Given the description of an element on the screen output the (x, y) to click on. 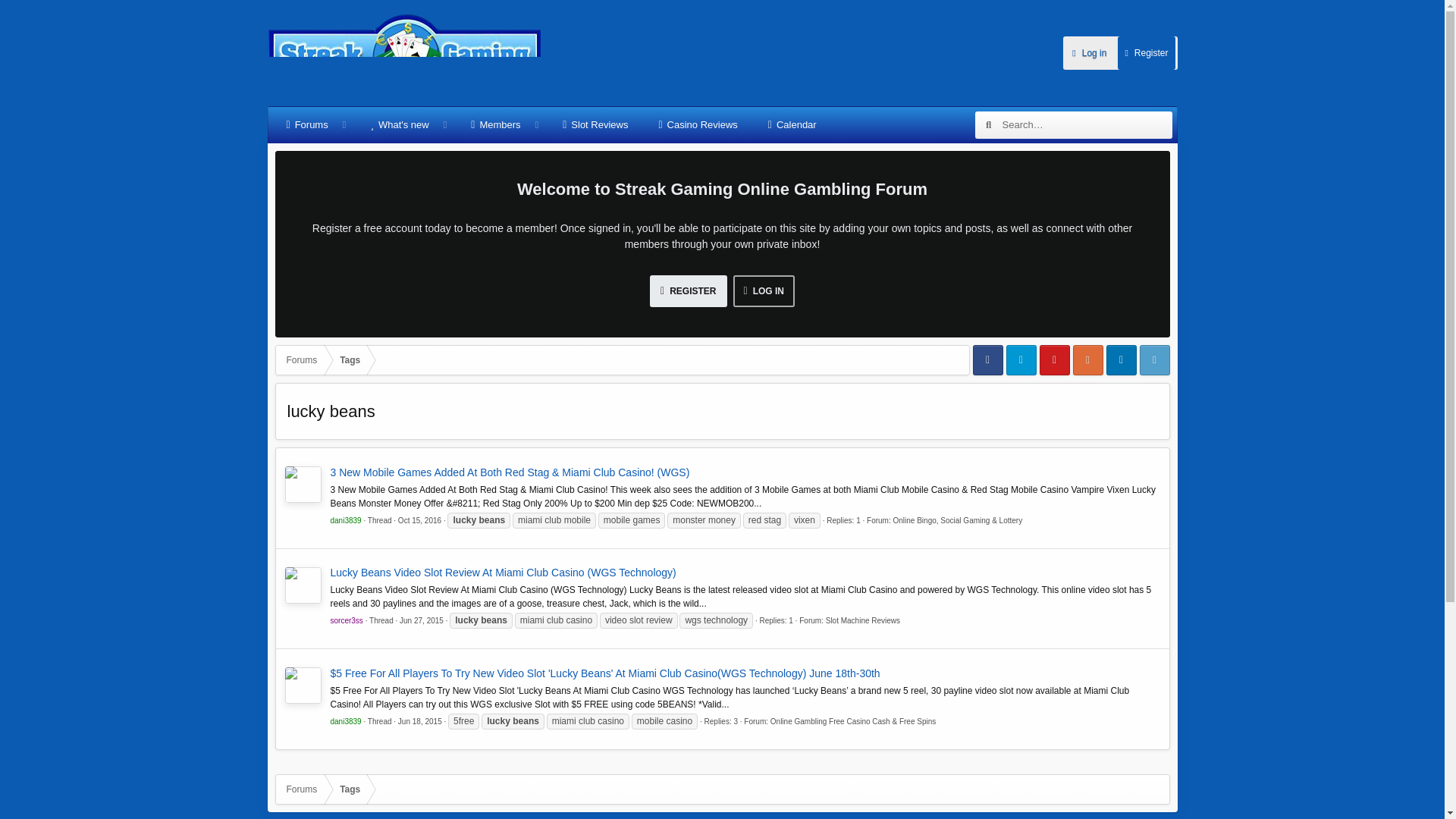
What's new (399, 125)
Members (495, 125)
Jun 18, 2015 at 7:18 AM (419, 721)
Jun 27, 2015 at 8:00 AM (421, 620)
Casino Reviews (697, 125)
Forums (306, 125)
Calendar (791, 125)
LOG IN (762, 291)
Slot Reviews (595, 125)
Register (1145, 52)
REGISTER (687, 291)
Forums (302, 359)
Oct 15, 2016 at 1:21 PM (419, 520)
